Given the description of an element on the screen output the (x, y) to click on. 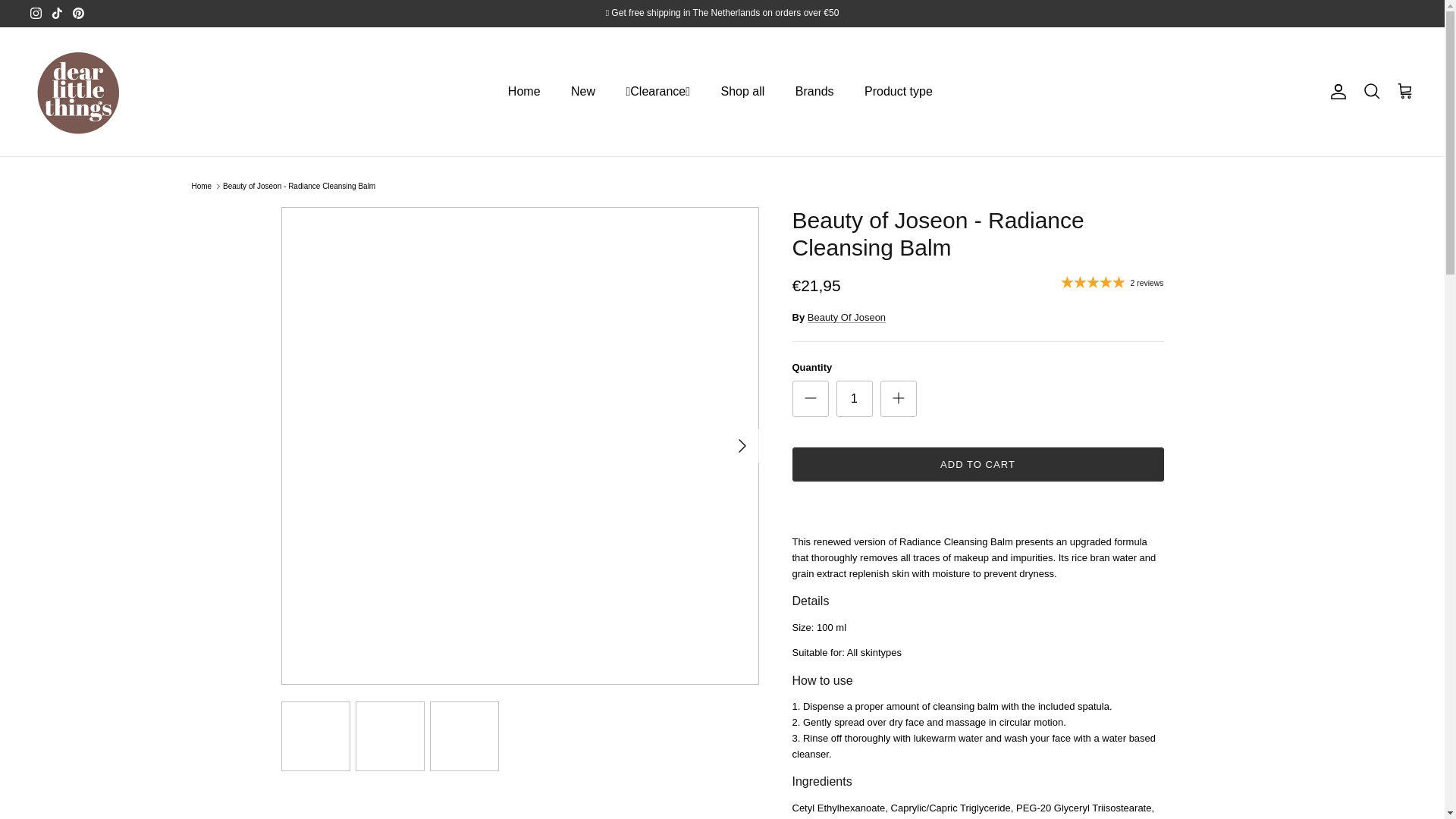
Brands (814, 91)
1 (853, 398)
Pinterest (78, 12)
Shop all (742, 91)
Home (524, 91)
Instagram (36, 12)
Minus (809, 398)
Product type (898, 91)
Instagram (36, 12)
Search (1371, 91)
Account (1335, 91)
New (582, 91)
RIGHT (741, 445)
Cart (1404, 91)
Dear Little Things (79, 91)
